Given the description of an element on the screen output the (x, y) to click on. 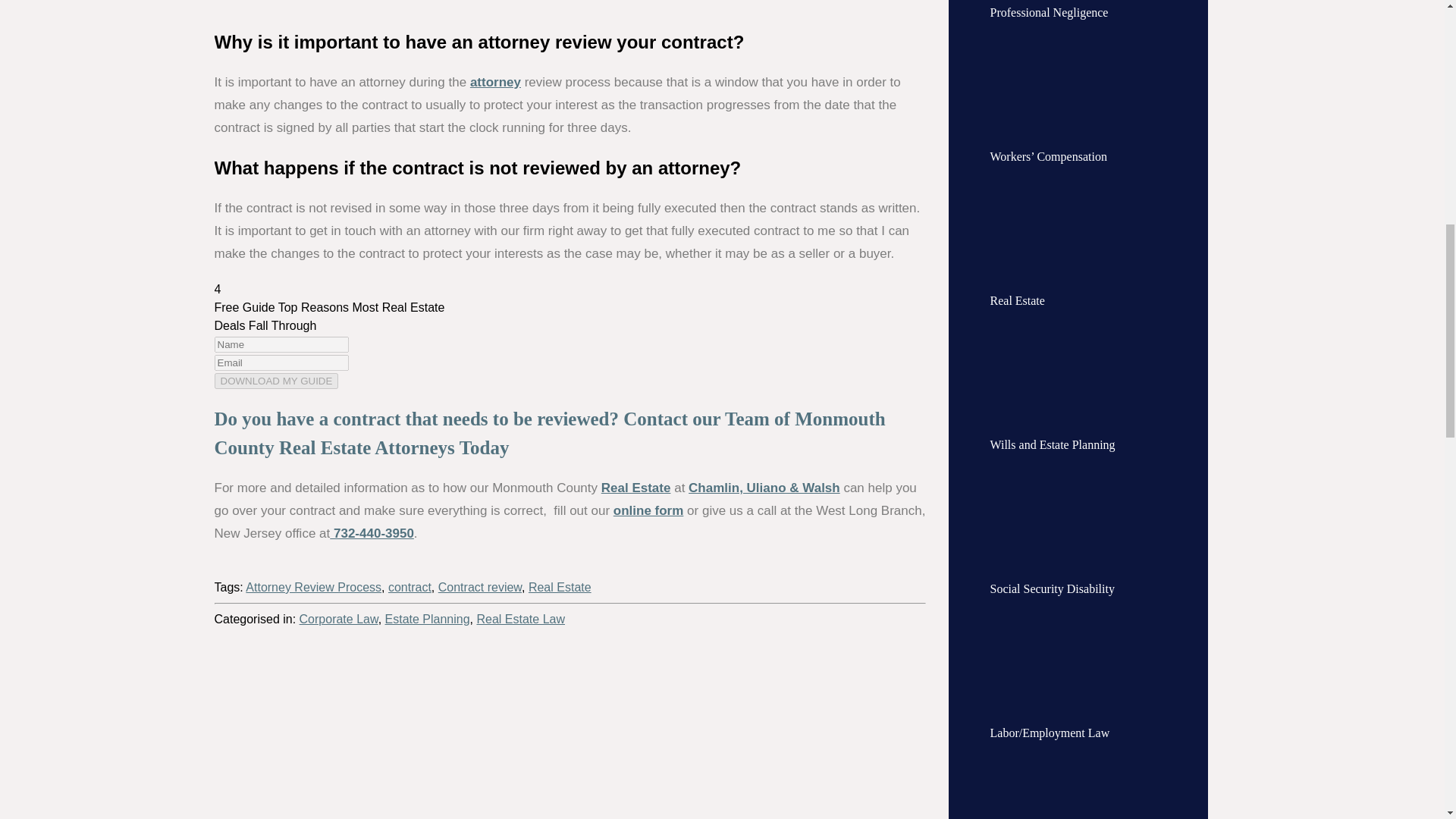
Real Estate (636, 487)
DOWNLOAD MY GUIDE (275, 381)
Estate Planning (427, 618)
Corporate Law (338, 618)
contract (409, 586)
online form (648, 510)
attorney (495, 82)
732-440-3950 (371, 533)
Attorney Review Process (313, 586)
DOWNLOAD MY GUIDE (275, 381)
Real Estate Law (520, 618)
Real Estate (559, 586)
Contract review (479, 586)
